Given the description of an element on the screen output the (x, y) to click on. 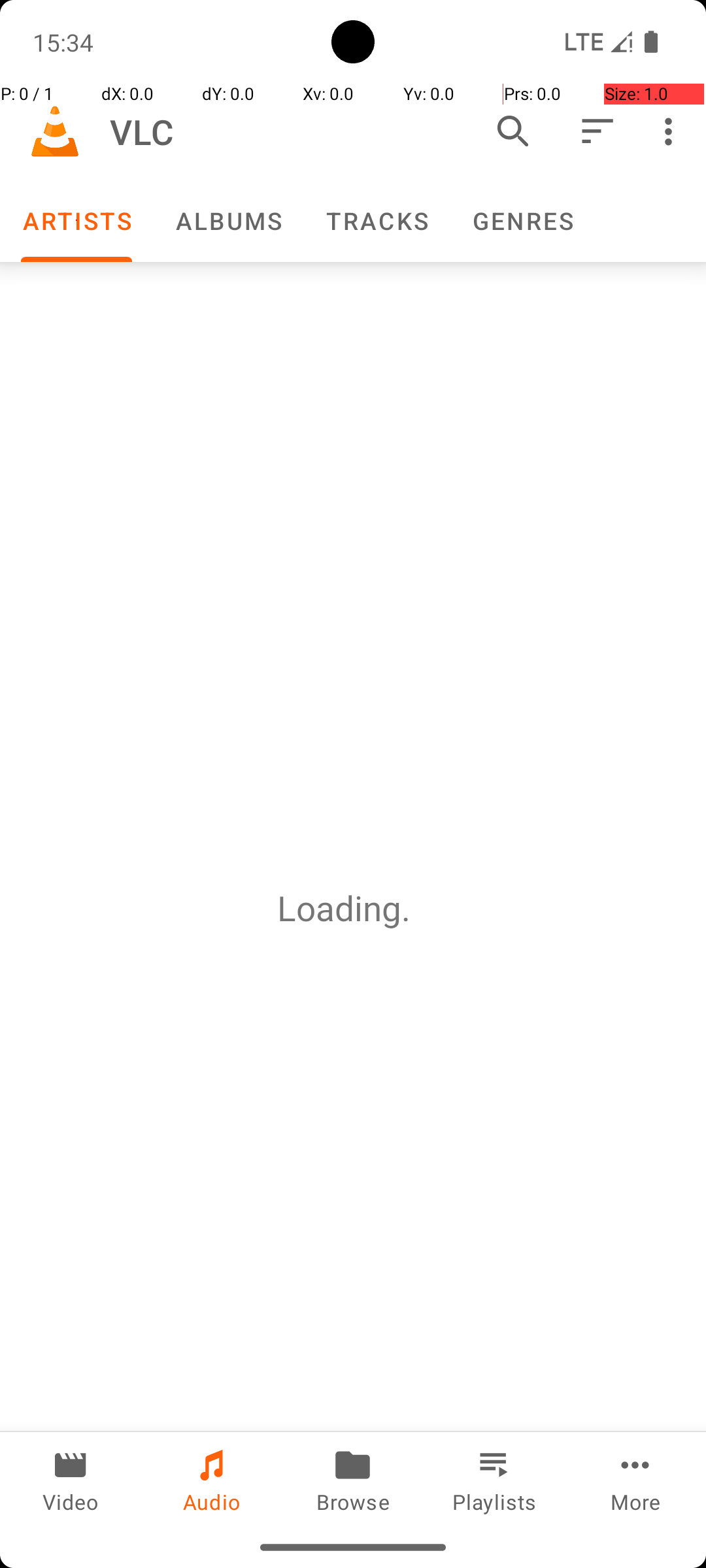
Sort by… Element type: android.widget.TextView (595, 131)
Loading Element type: android.widget.TextView (339, 907)
Tracks Element type: android.widget.LinearLayout (376, 220)
Genres Element type: android.widget.LinearLayout (521, 220)
ARTISTS Element type: android.widget.TextView (76, 220)
ALBUMS Element type: android.widget.TextView (227, 220)
TRACKS Element type: android.widget.TextView (376, 220)
GENRES Element type: android.widget.TextView (521, 220)
